Given the description of an element on the screen output the (x, y) to click on. 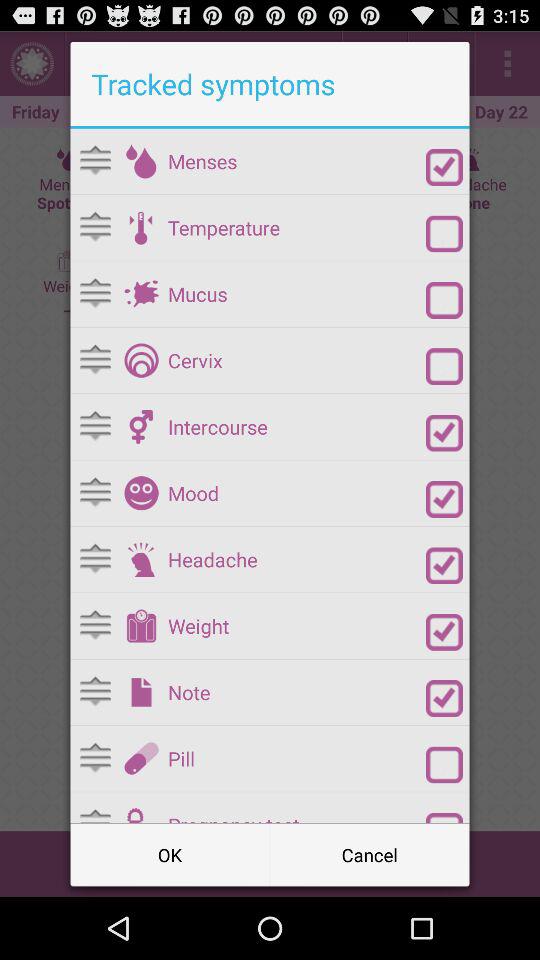
choose this (141, 161)
